Given the description of an element on the screen output the (x, y) to click on. 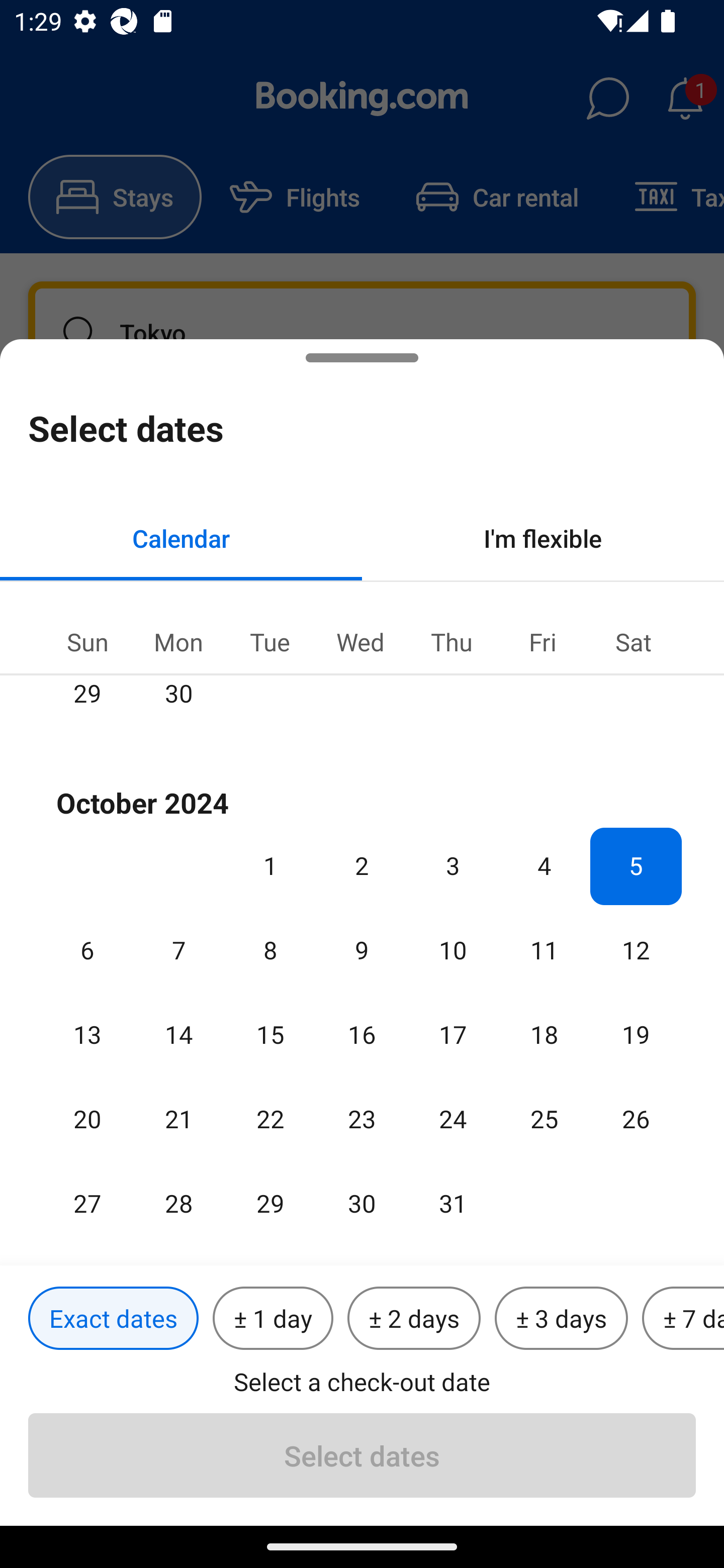
I'm flexible (543, 537)
Exact dates (113, 1318)
± 1 day (272, 1318)
± 2 days (413, 1318)
± 3 days (560, 1318)
± 7 days (683, 1318)
Select dates (361, 1454)
